Given the description of an element on the screen output the (x, y) to click on. 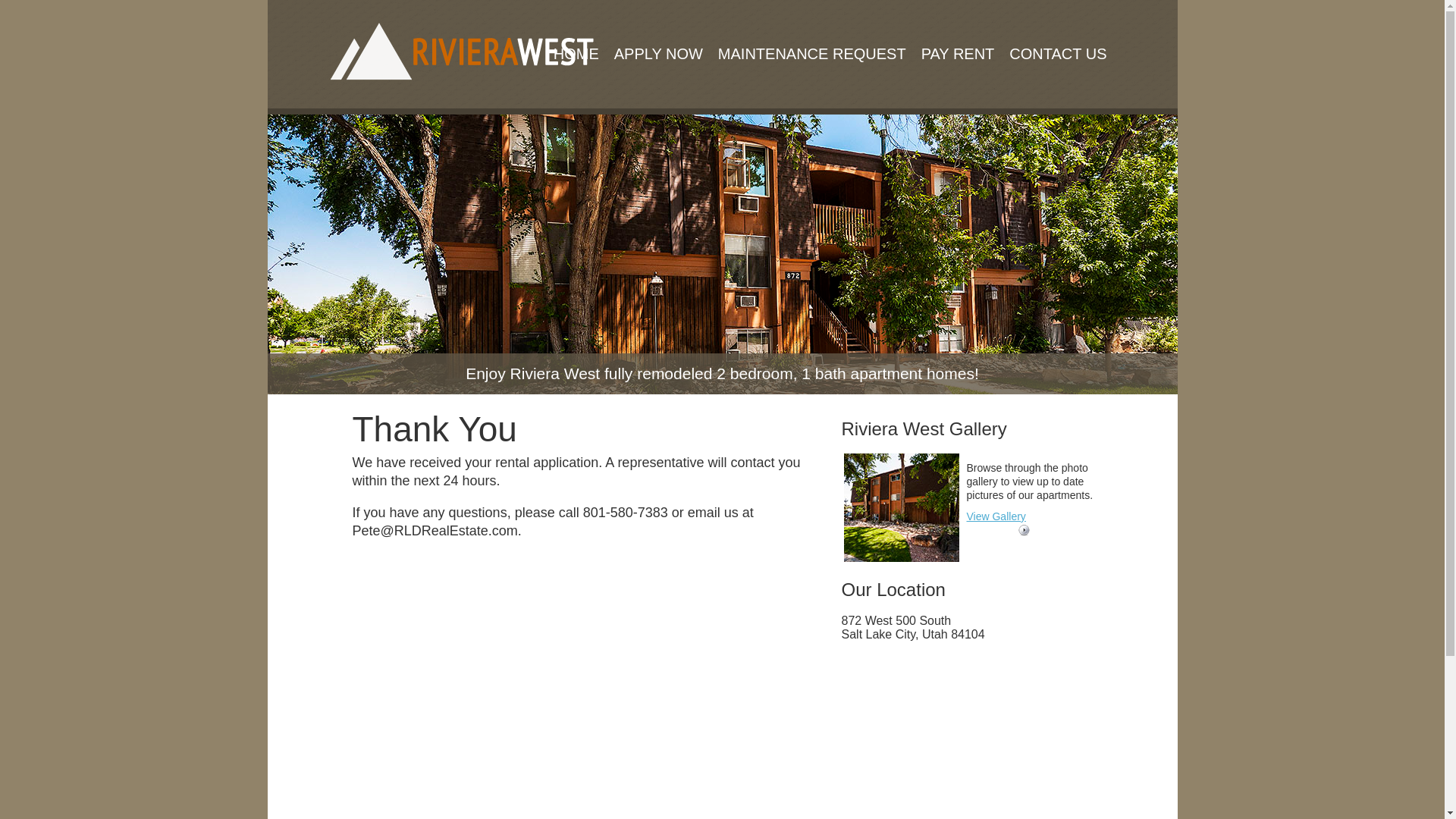
PAY RENT (958, 35)
APPLY NOW (658, 35)
MAINTENANCE REQUEST (812, 35)
View Gallery (995, 516)
CONTACT US (1057, 35)
